Given the description of an element on the screen output the (x, y) to click on. 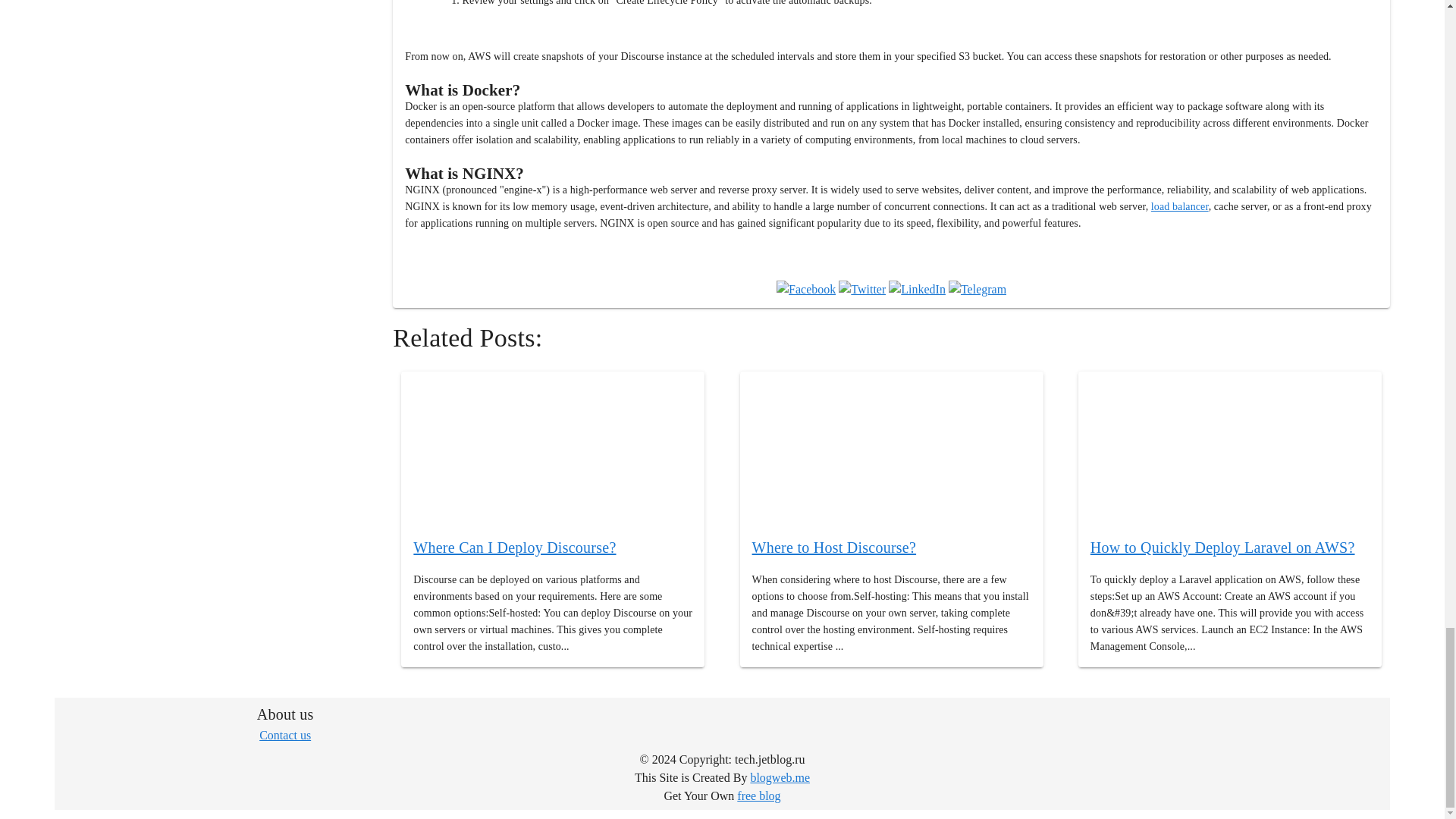
Where to Host Discourse? (834, 547)
load balancer (1179, 206)
Facebook (805, 289)
Twitter (861, 289)
Contact us (285, 735)
How to Quickly Deploy Laravel on AWS? (1222, 547)
Where Can I Deploy Discourse? (514, 547)
Telegram (977, 289)
LinkedIn (916, 289)
blogweb.me (779, 777)
